Given the description of an element on the screen output the (x, y) to click on. 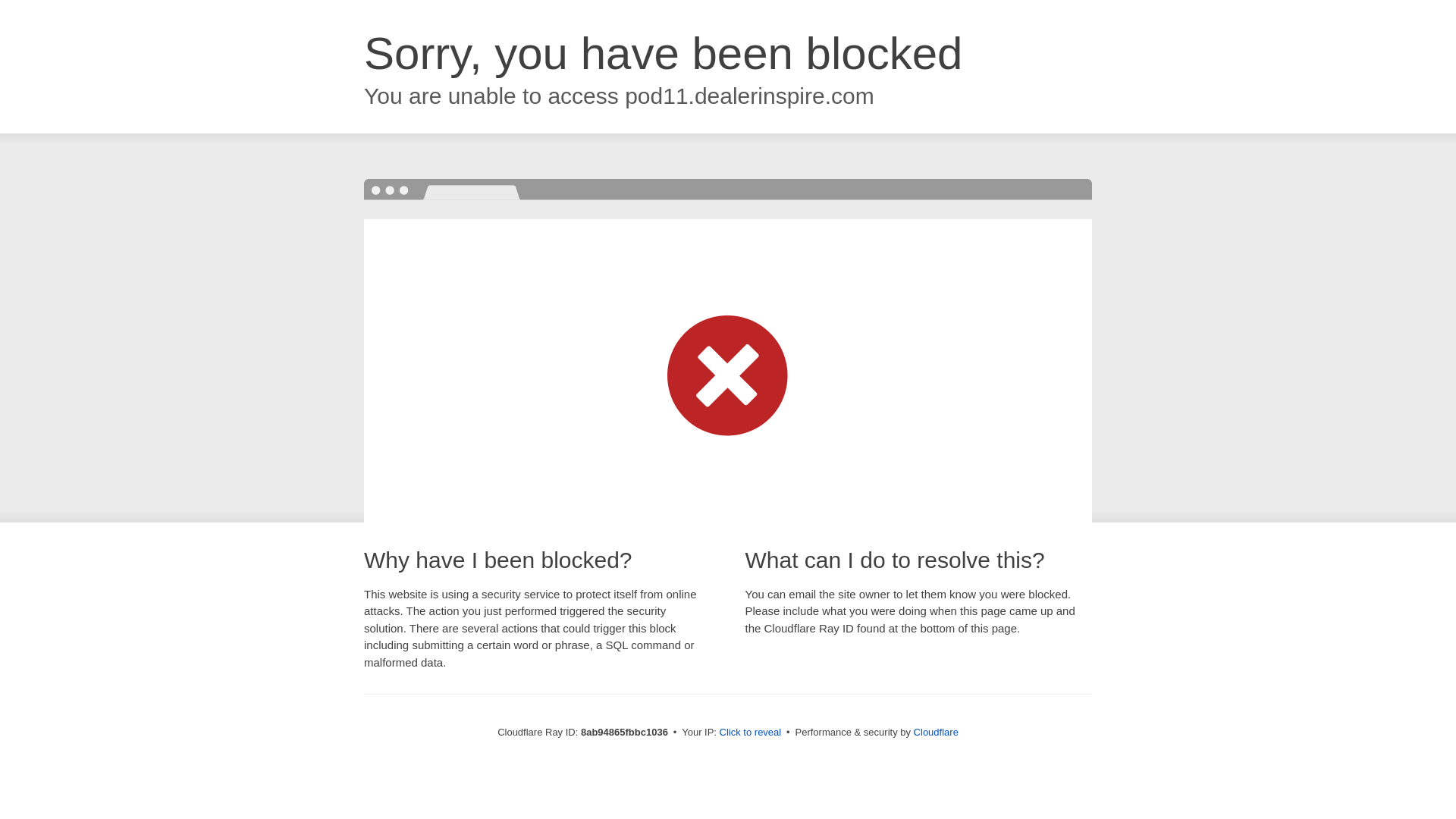
Cloudflare (936, 731)
Click to reveal (750, 732)
